Given the description of an element on the screen output the (x, y) to click on. 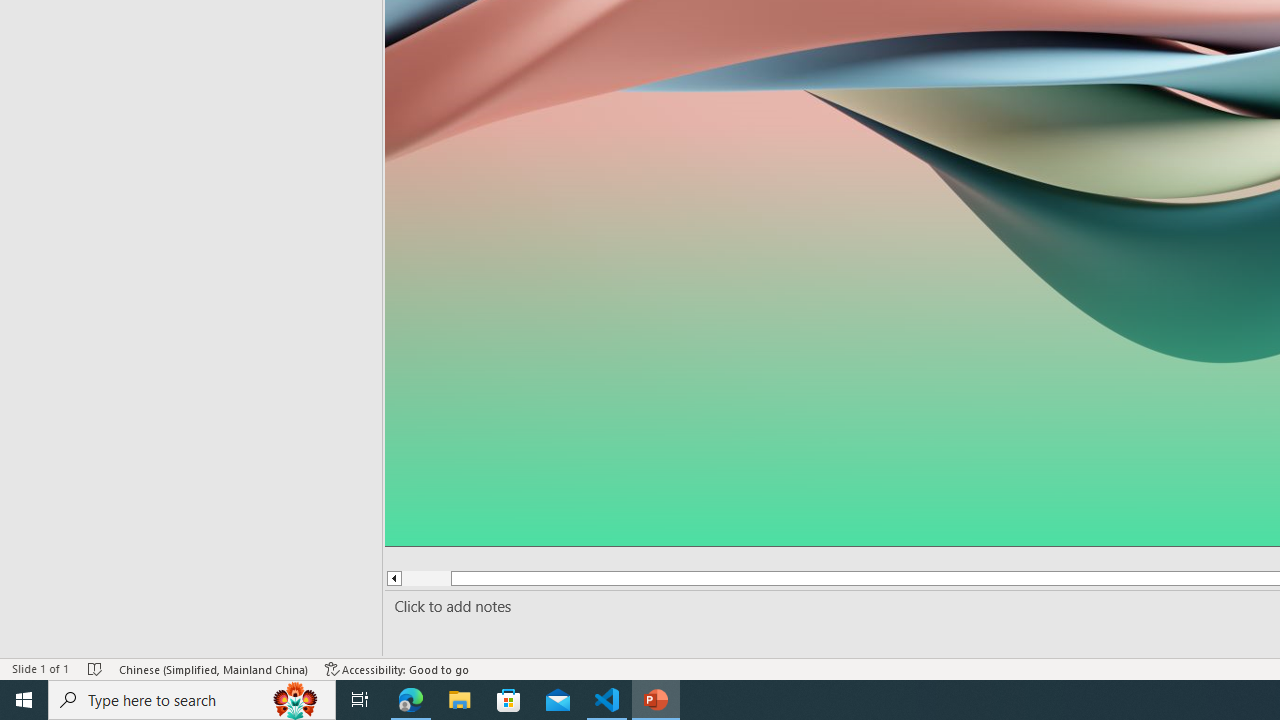
Accessibility Checker Accessibility: Good to go (397, 668)
